Given the description of an element on the screen output the (x, y) to click on. 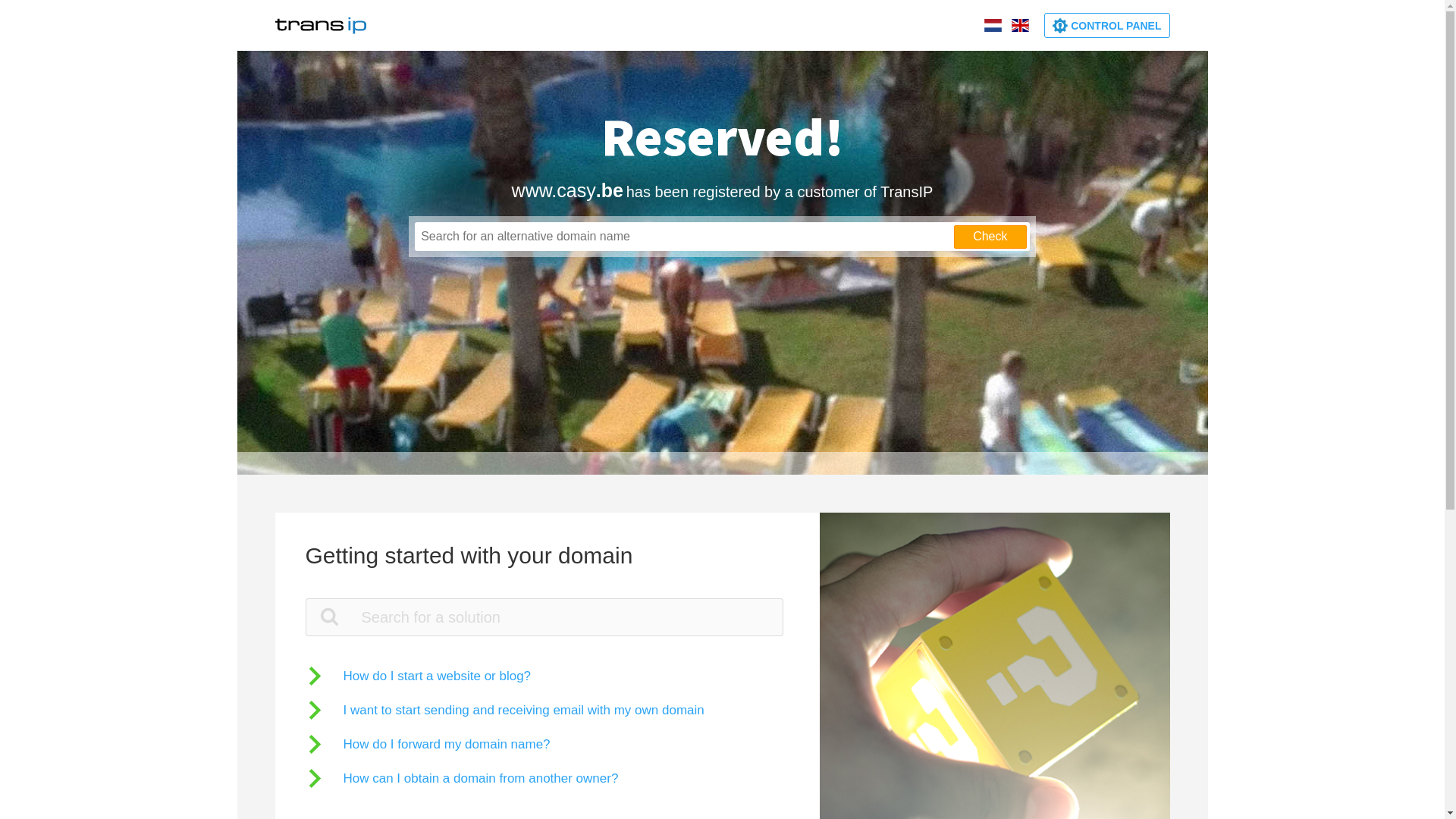
CONTROL PANEL Element type: text (1106, 24)
How do I start a website or blog? Element type: text (417, 675)
How do I forward my domain name? Element type: text (426, 743)
Check Element type: text (989, 236)
How can I obtain a domain from another owner? Element type: text (461, 777)
